Given the description of an element on the screen output the (x, y) to click on. 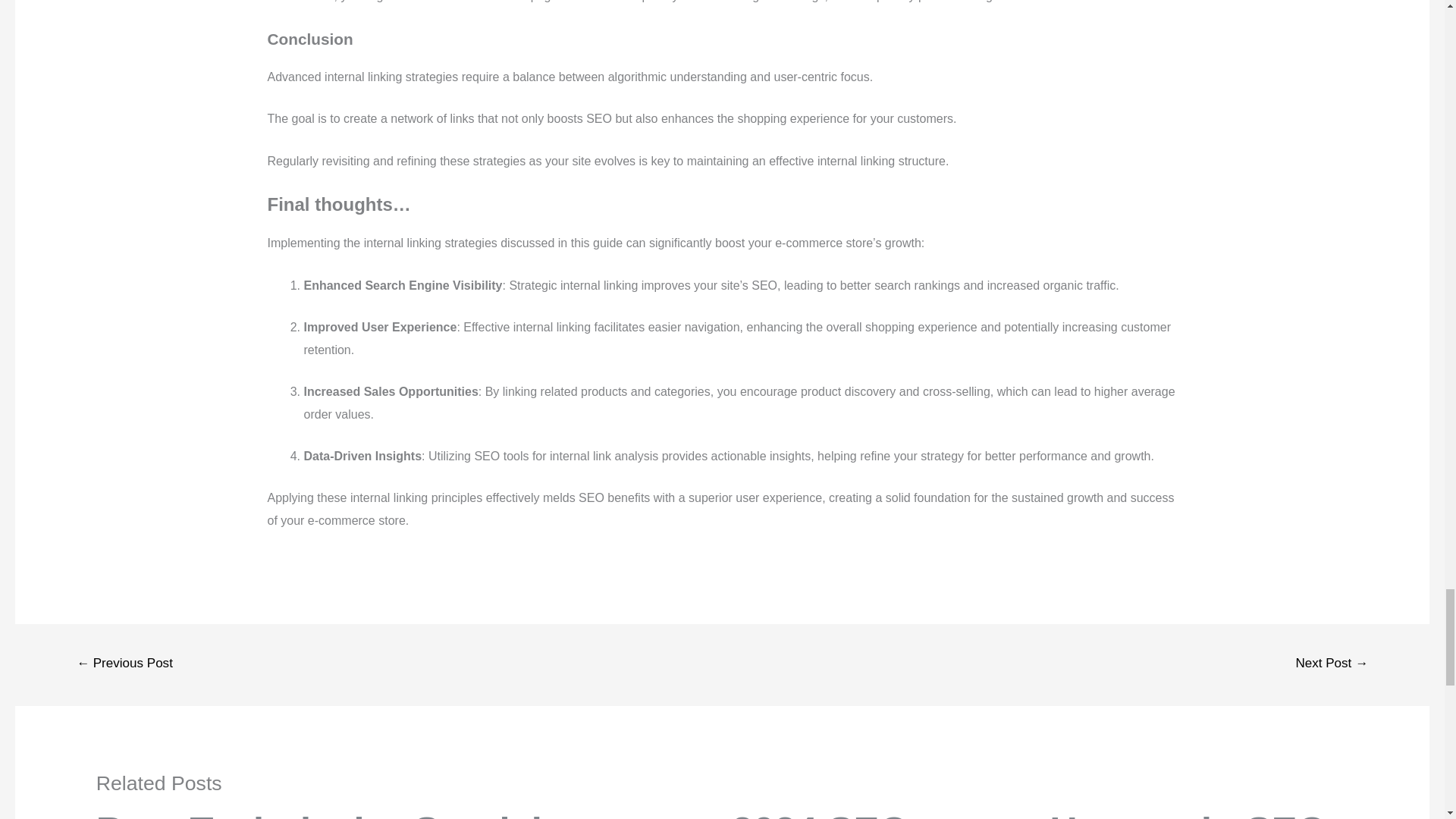
Best Technical SEO Apps for Shopify (230, 814)
How to do SEO for homeware brands on Shopify (1187, 814)
